Given the description of an element on the screen output the (x, y) to click on. 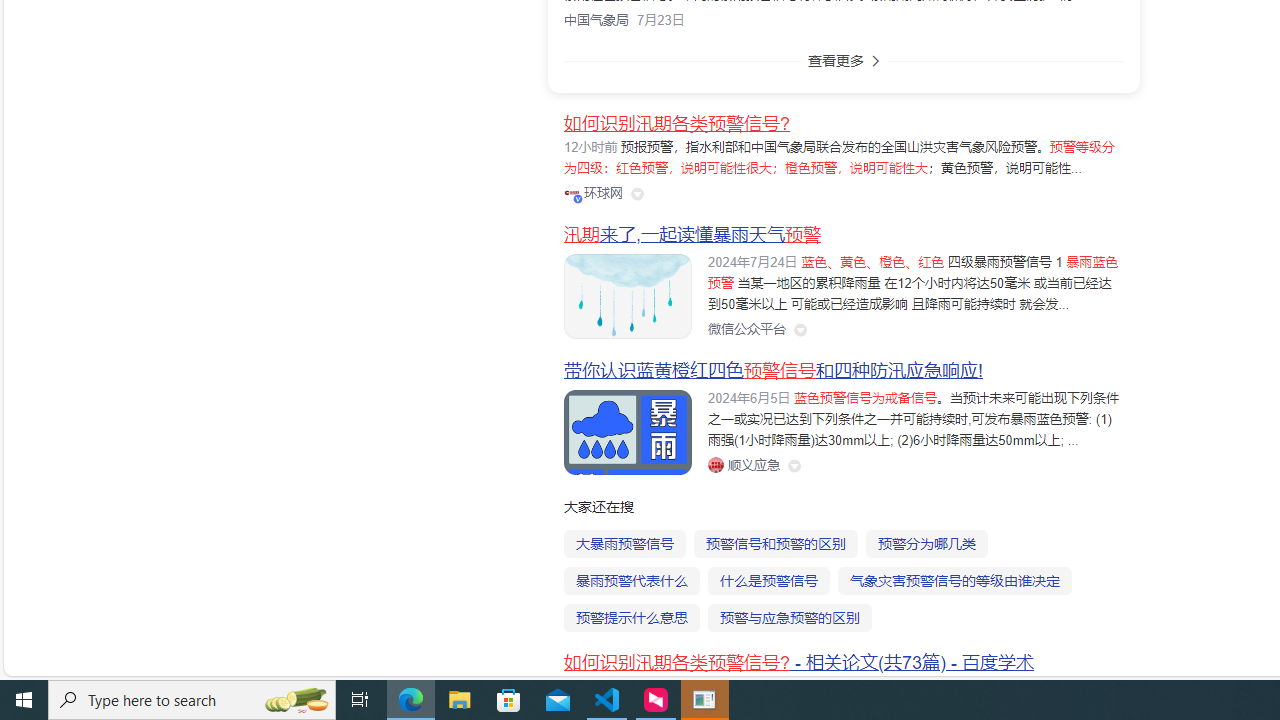
Class: vip-icon_kNmNt (577, 198)
Class: siteLink_9TPP3 (743, 465)
